Given the description of an element on the screen output the (x, y) to click on. 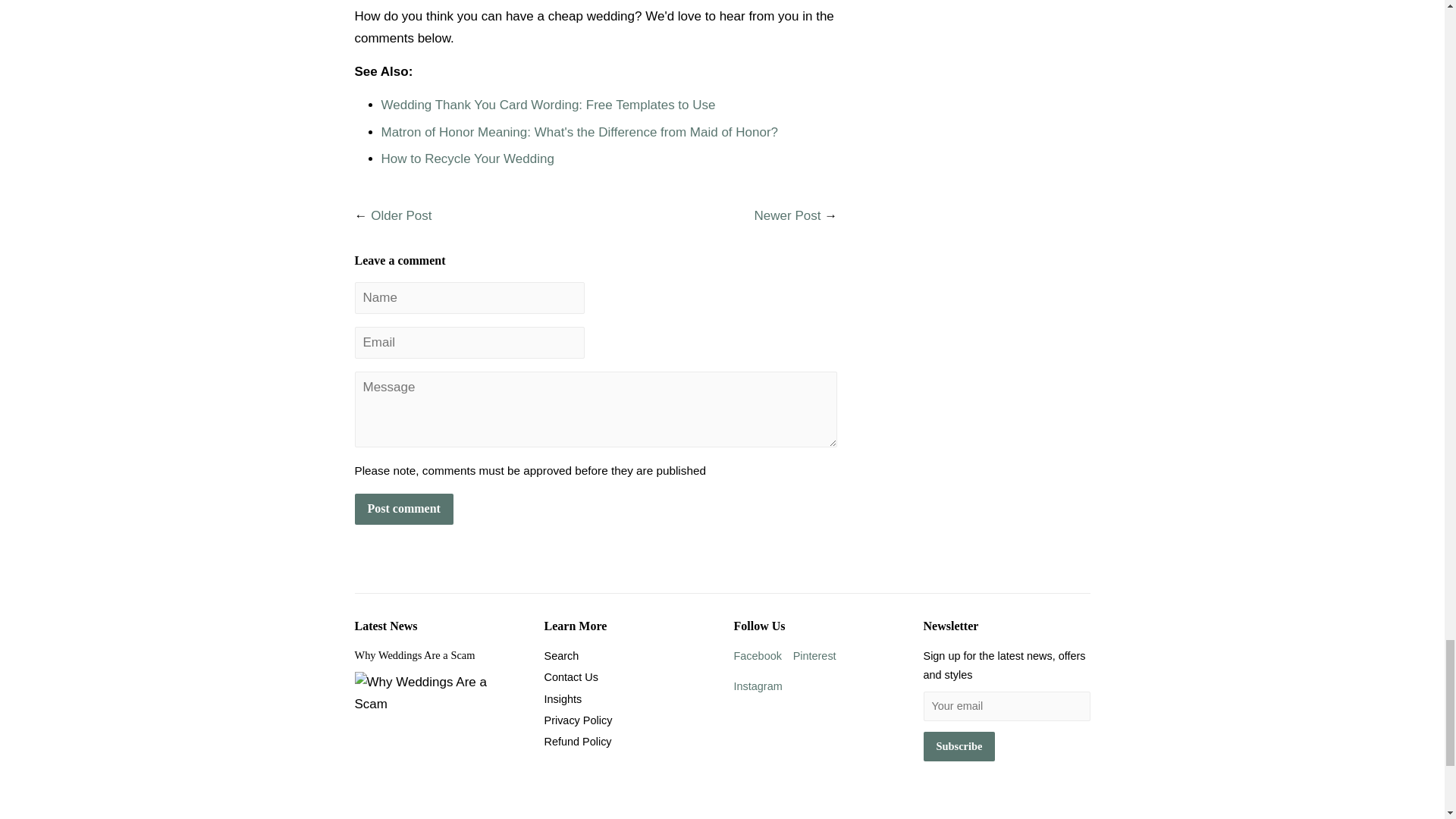
Post comment (403, 508)
Subscribe (959, 746)
